Given the description of an element on the screen output the (x, y) to click on. 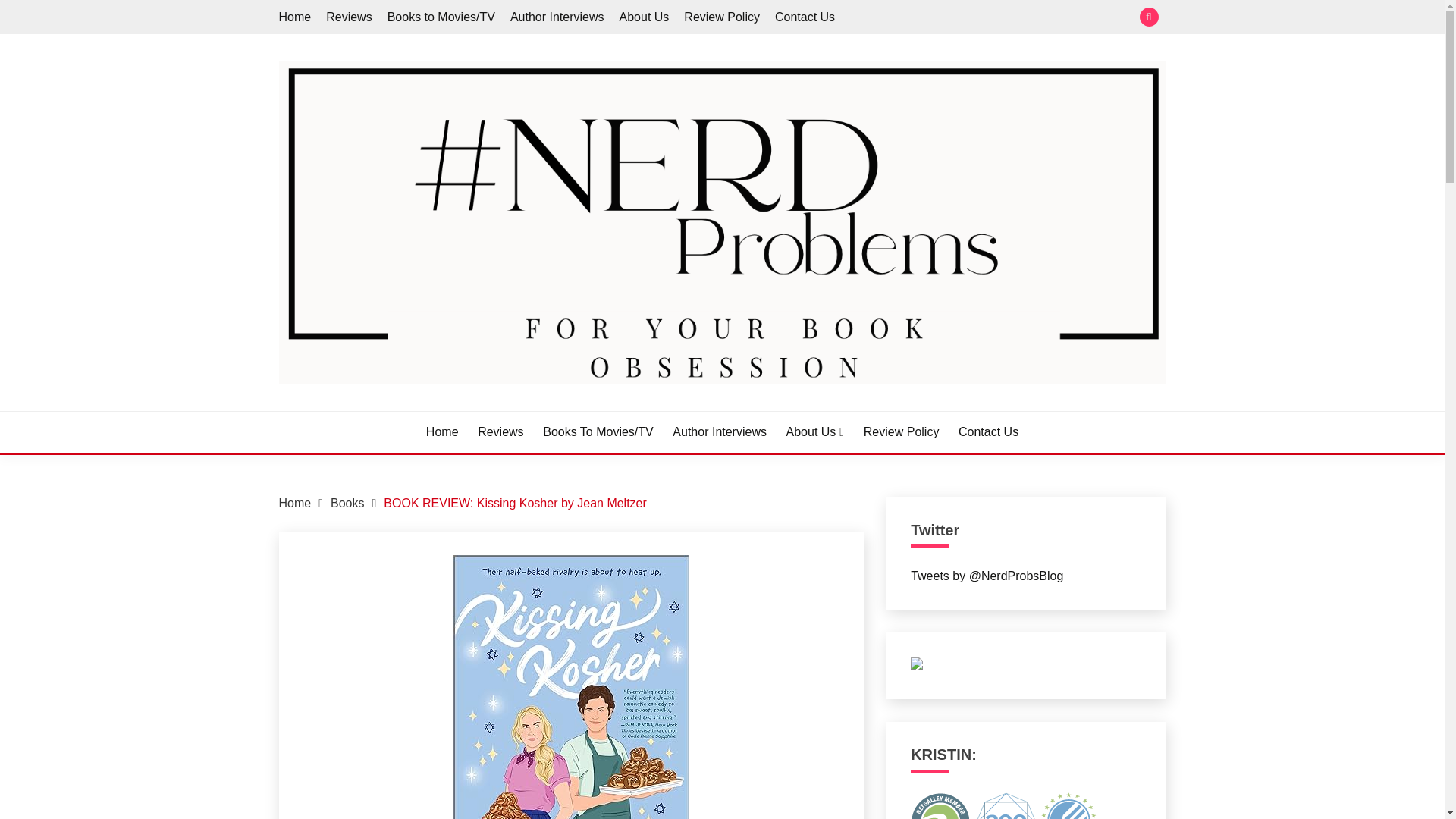
Professional Reader (941, 805)
Contact Us (804, 16)
Review Policy (722, 16)
Home (442, 432)
200 Book Reviews (1005, 805)
About Us (815, 432)
Author Interviews (557, 16)
Contact Us (987, 432)
Home (295, 16)
Books (347, 502)
Review Policy (901, 432)
Reviews (499, 432)
About Us (644, 16)
Home (295, 502)
Search (832, 18)
